Given the description of an element on the screen output the (x, y) to click on. 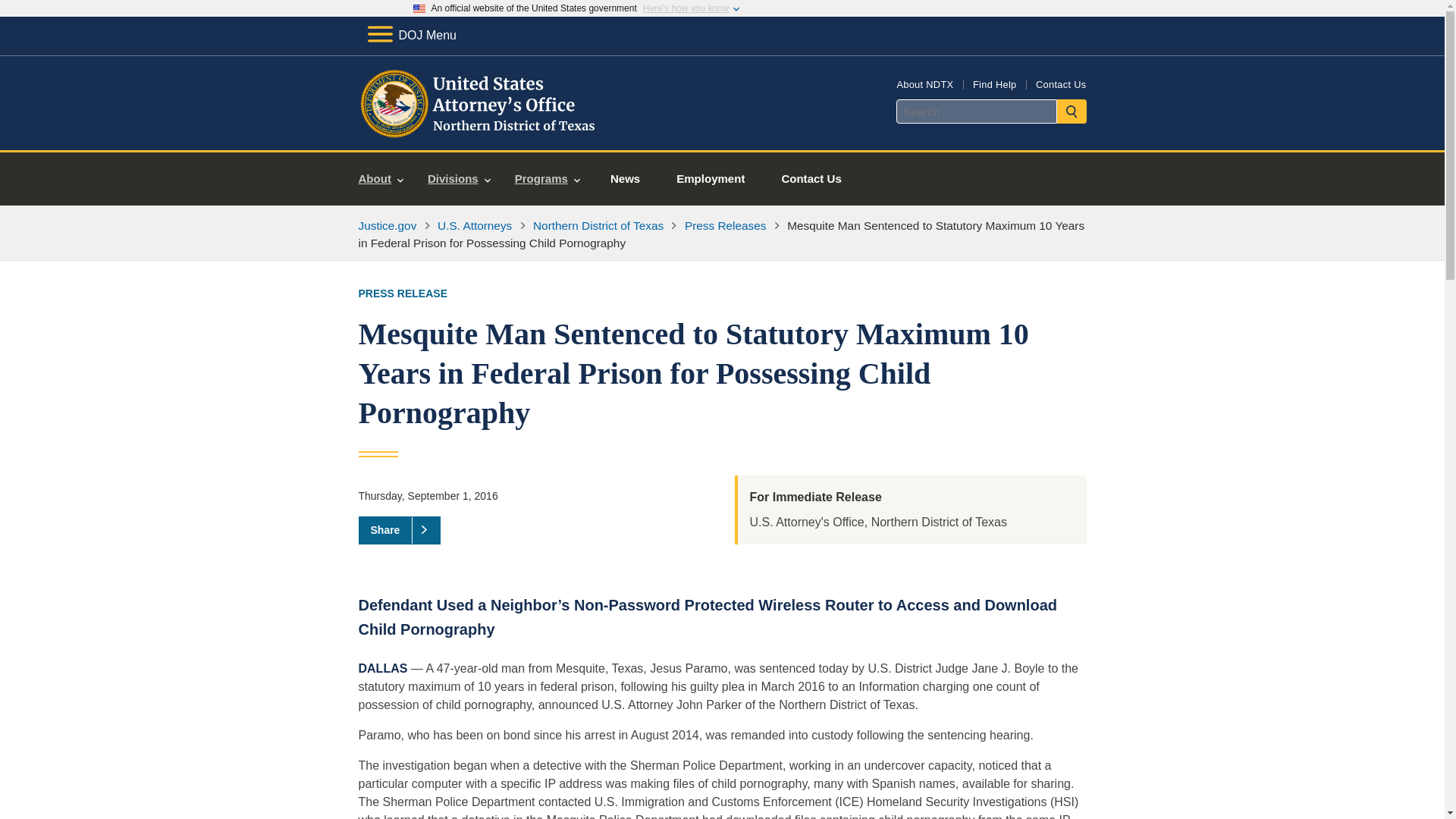
About (380, 179)
About NDTX (924, 84)
Share (398, 529)
Find Help (994, 84)
Divisions (458, 179)
Employment (710, 179)
Press Releases (725, 225)
Justice.gov (387, 225)
News (625, 179)
Programs (547, 179)
Contact Us (810, 179)
Contact Us (1060, 84)
Northern District of Texas (597, 225)
U.S. Attorneys (475, 225)
DOJ Menu (411, 35)
